Given the description of an element on the screen output the (x, y) to click on. 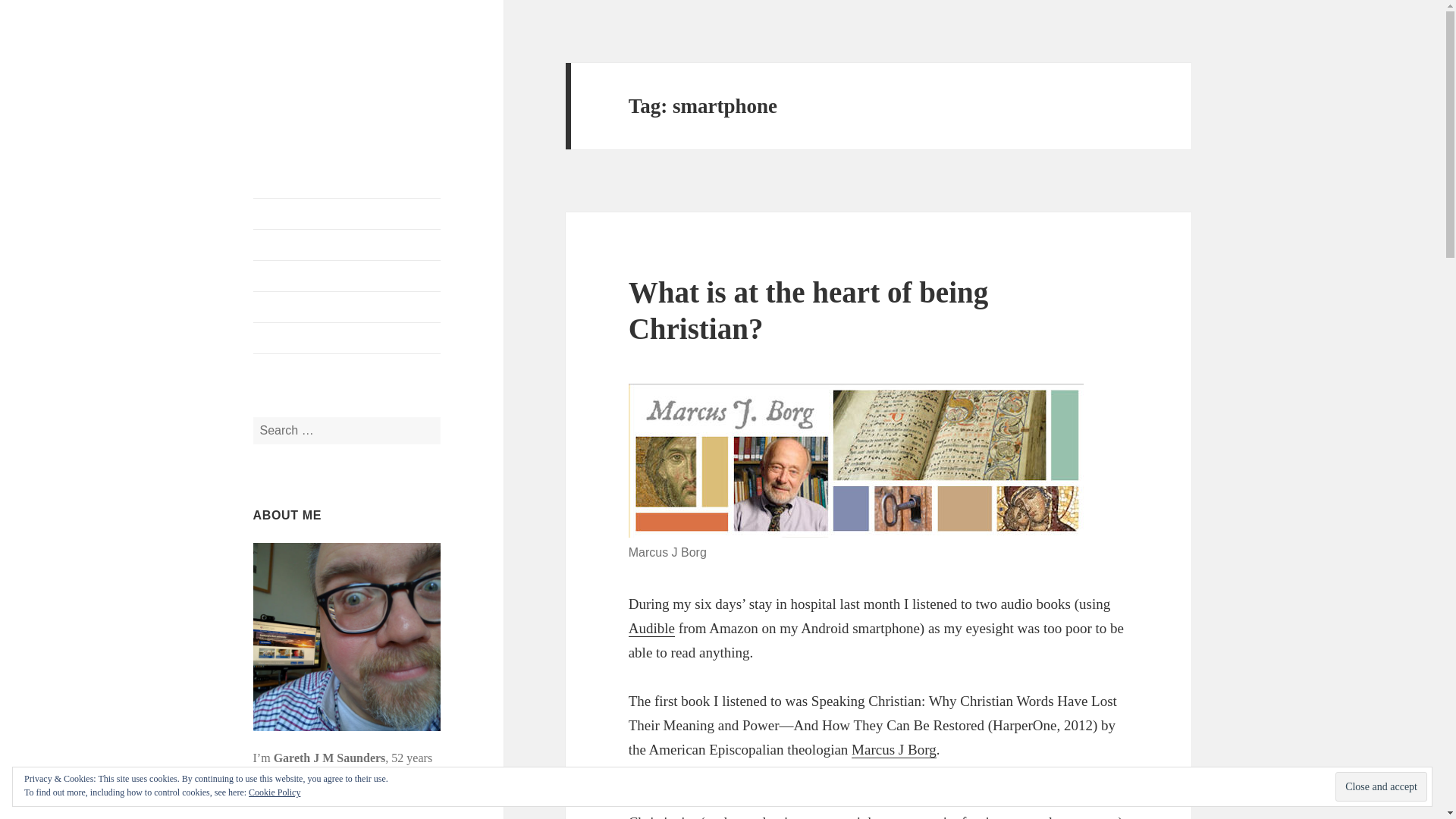
About (347, 245)
A wee bit about me. (347, 245)
Jesus and biblical scholar (893, 750)
View from the Potting Shed (320, 86)
Home (347, 214)
Contact (347, 337)
Books (347, 276)
Close and accept (1380, 786)
Listen to books anytime, anywhere (651, 628)
Web design (347, 306)
